Given the description of an element on the screen output the (x, y) to click on. 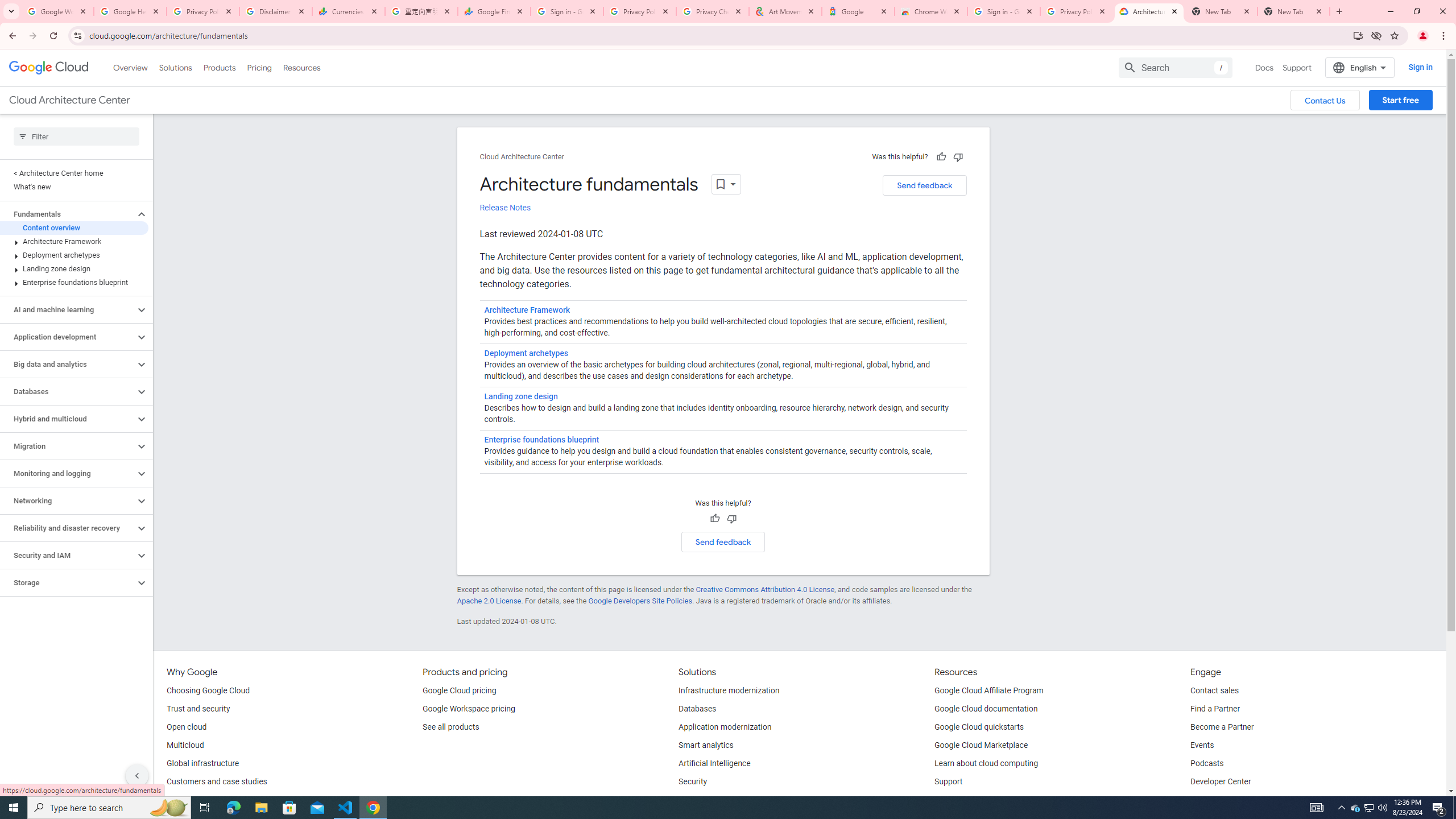
Migration (67, 445)
Landing zone design (74, 269)
Contact Us (1324, 100)
Trust and security (197, 709)
Cloud Architecture Center (521, 156)
Learn about cloud computing (986, 764)
Reliability and disaster recovery (67, 527)
Monitoring and logging (67, 473)
Docs, selected (1264, 67)
